Given the description of an element on the screen output the (x, y) to click on. 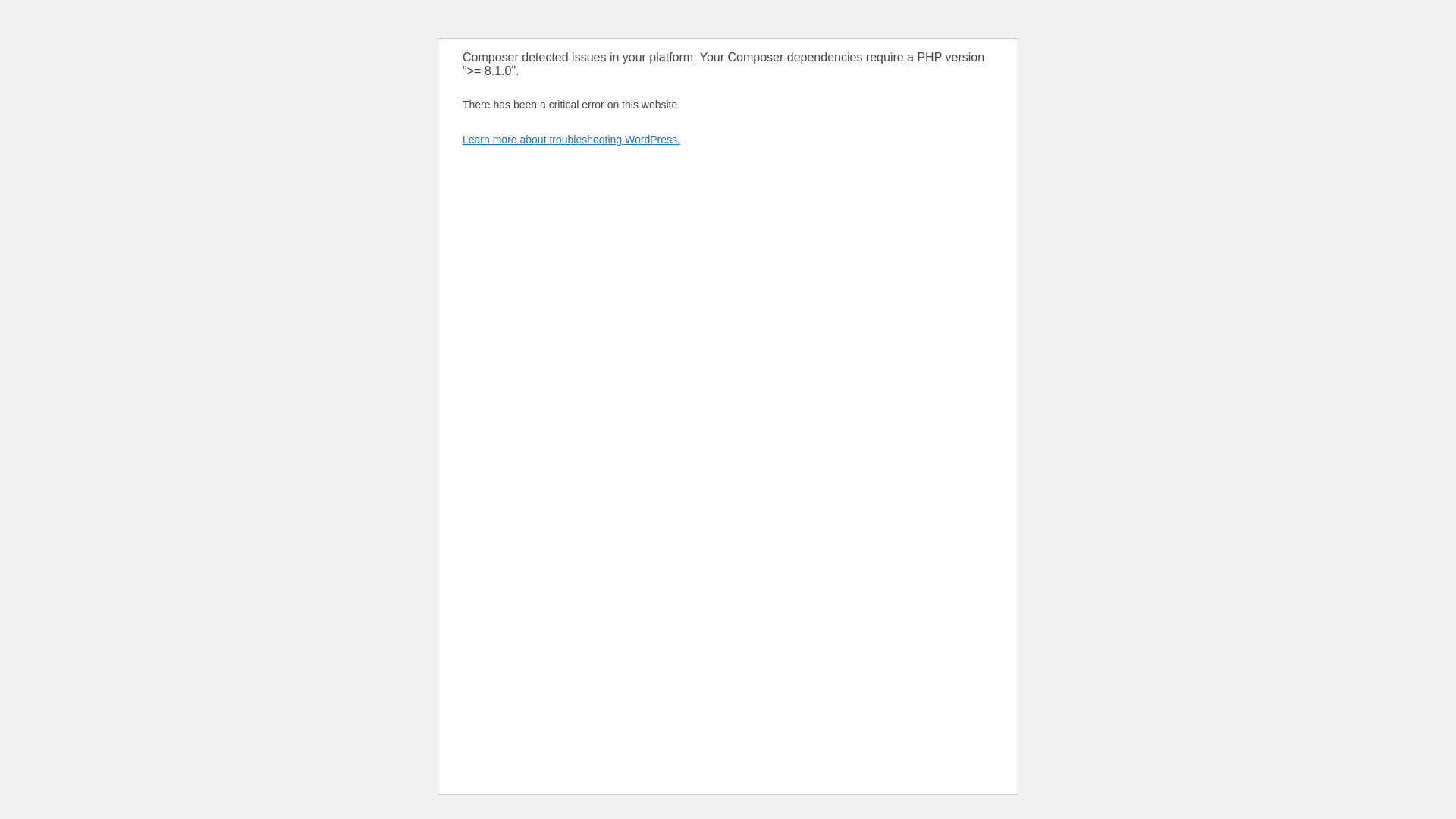
Learn more about troubleshooting WordPress. (571, 139)
